Given the description of an element on the screen output the (x, y) to click on. 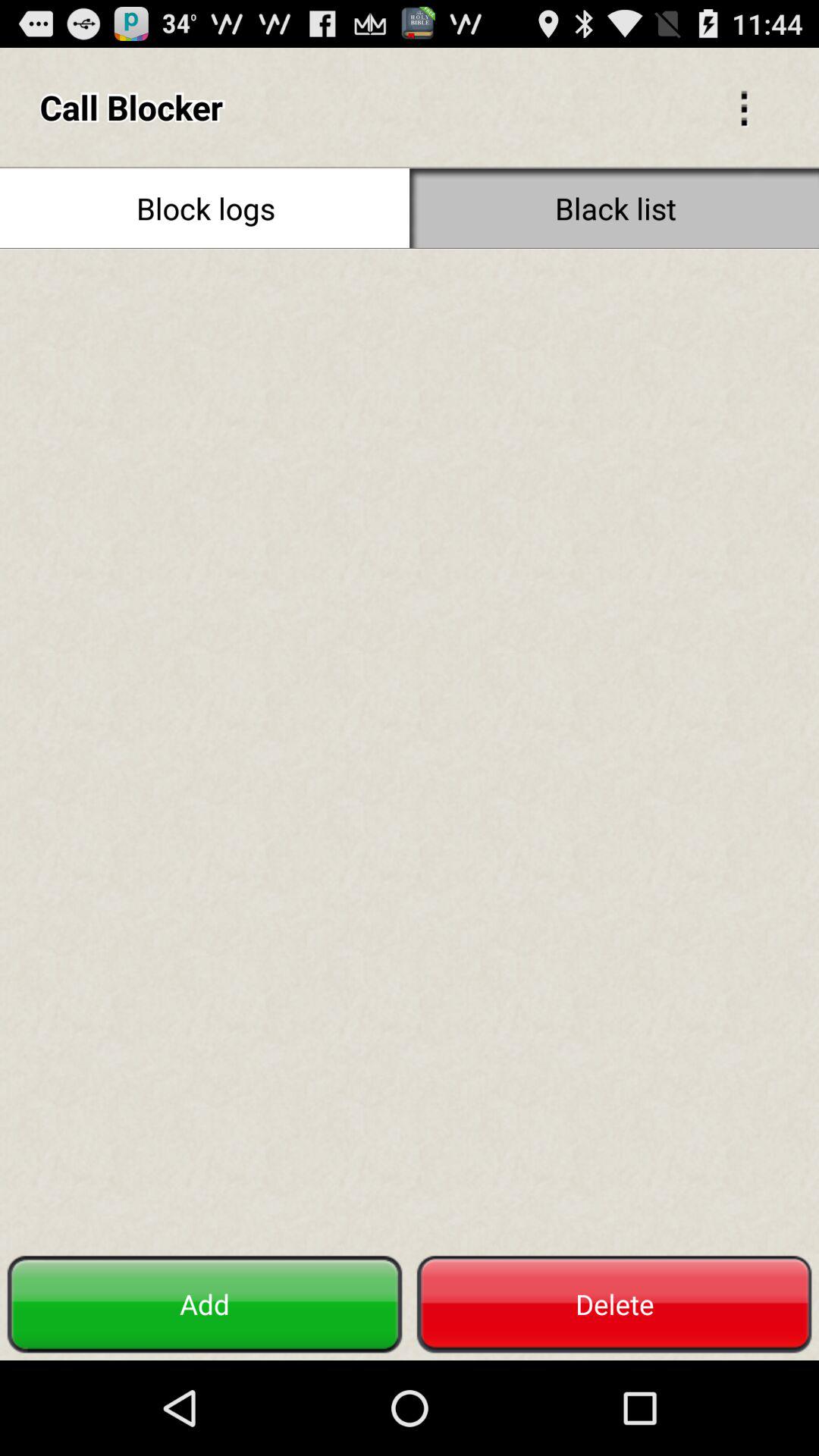
turn on the icon to the left of the delete (204, 1304)
